Given the description of an element on the screen output the (x, y) to click on. 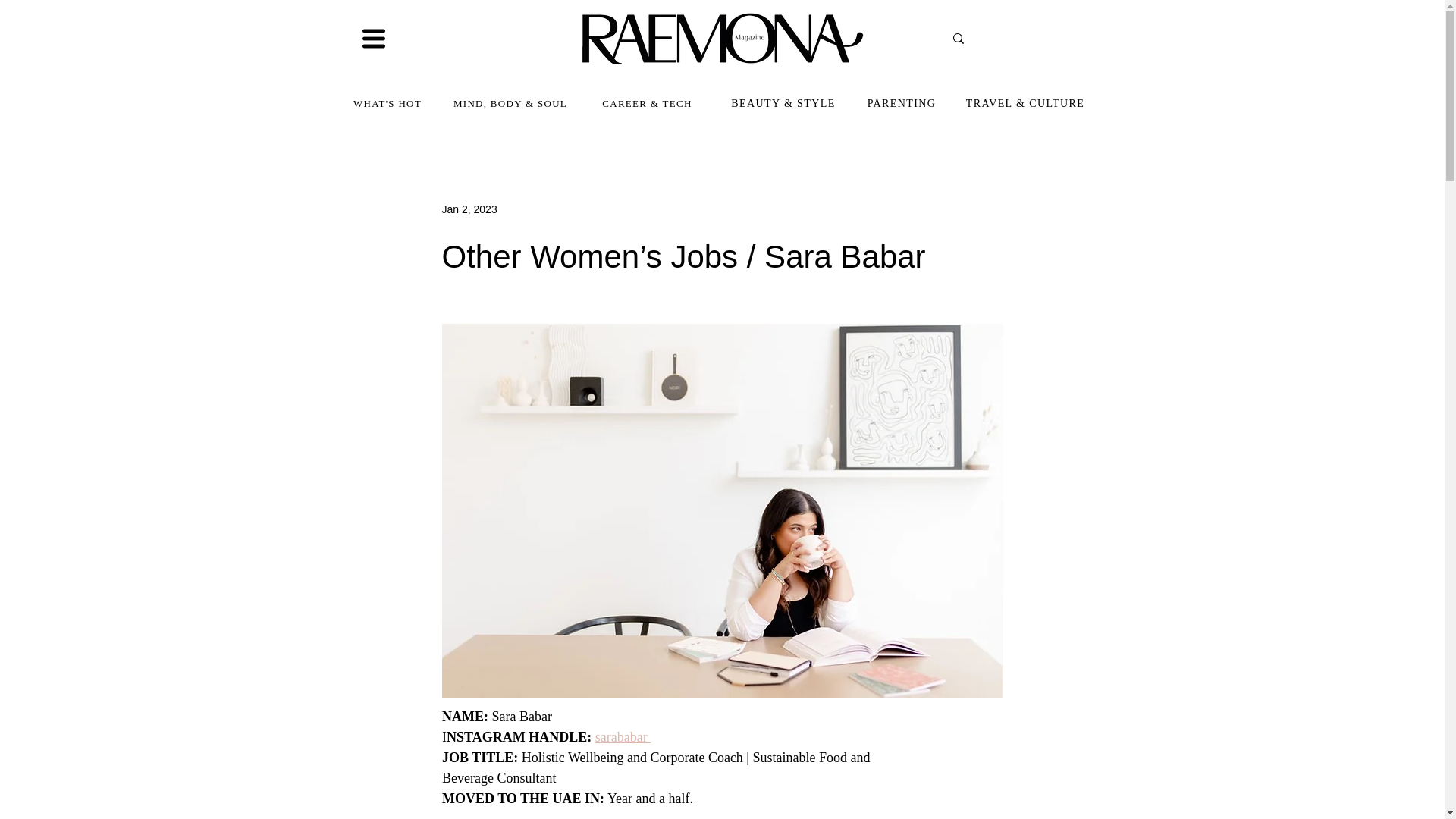
PARENTING (903, 103)
Jan 2, 2023 (468, 209)
sarababar  (621, 736)
WHAT'S HOT (387, 103)
